Given the description of an element on the screen output the (x, y) to click on. 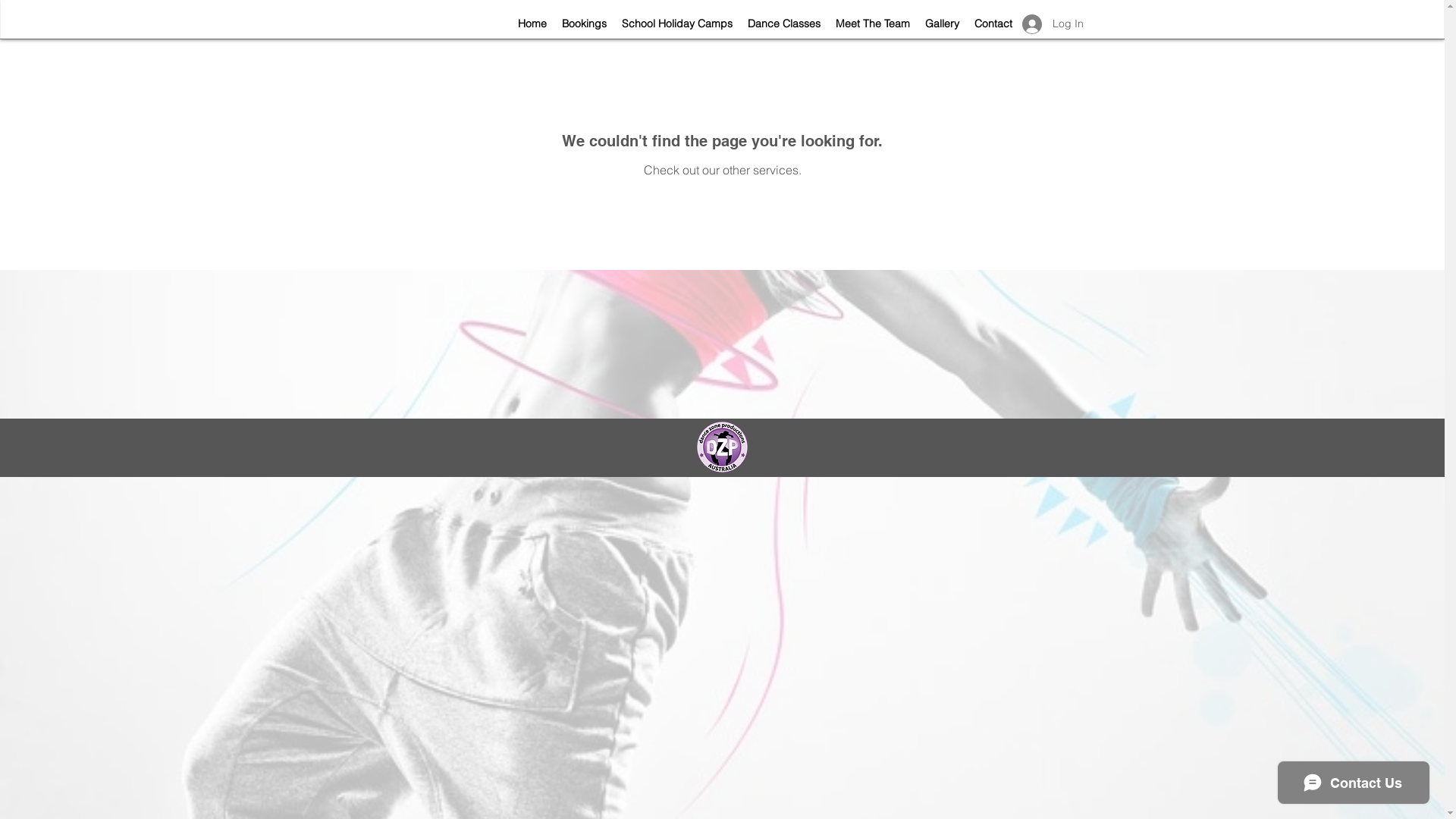
Bookings Element type: text (583, 23)
School Holiday Camps Element type: text (677, 23)
Meet The Team Element type: text (872, 23)
Log In Element type: text (1052, 23)
Home Element type: text (531, 23)
Gallery Element type: text (941, 23)
Contact Element type: text (992, 23)
Dance Classes Element type: text (784, 23)
